Given the description of an element on the screen output the (x, y) to click on. 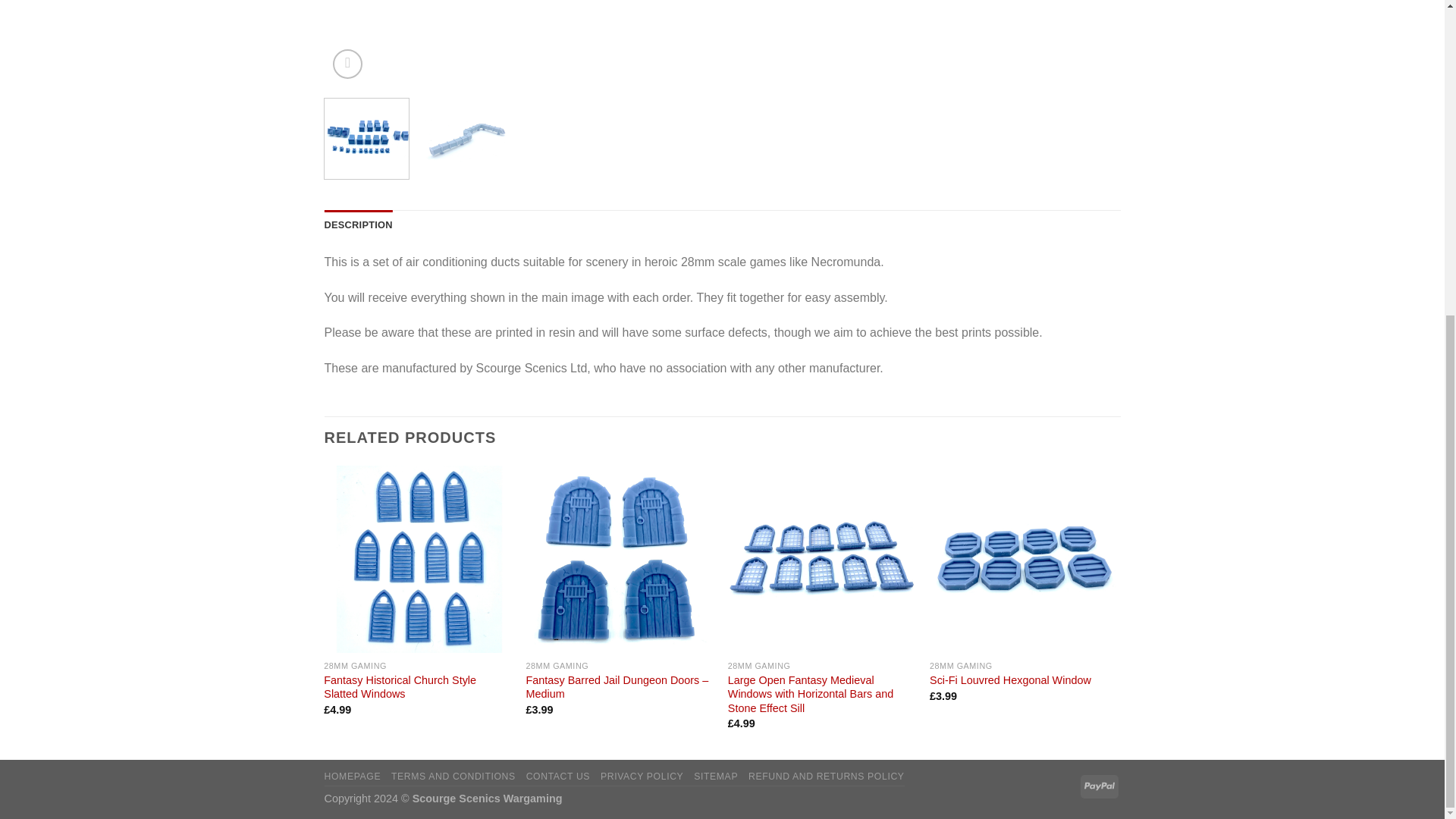
Zoom (347, 63)
